Given the description of an element on the screen output the (x, y) to click on. 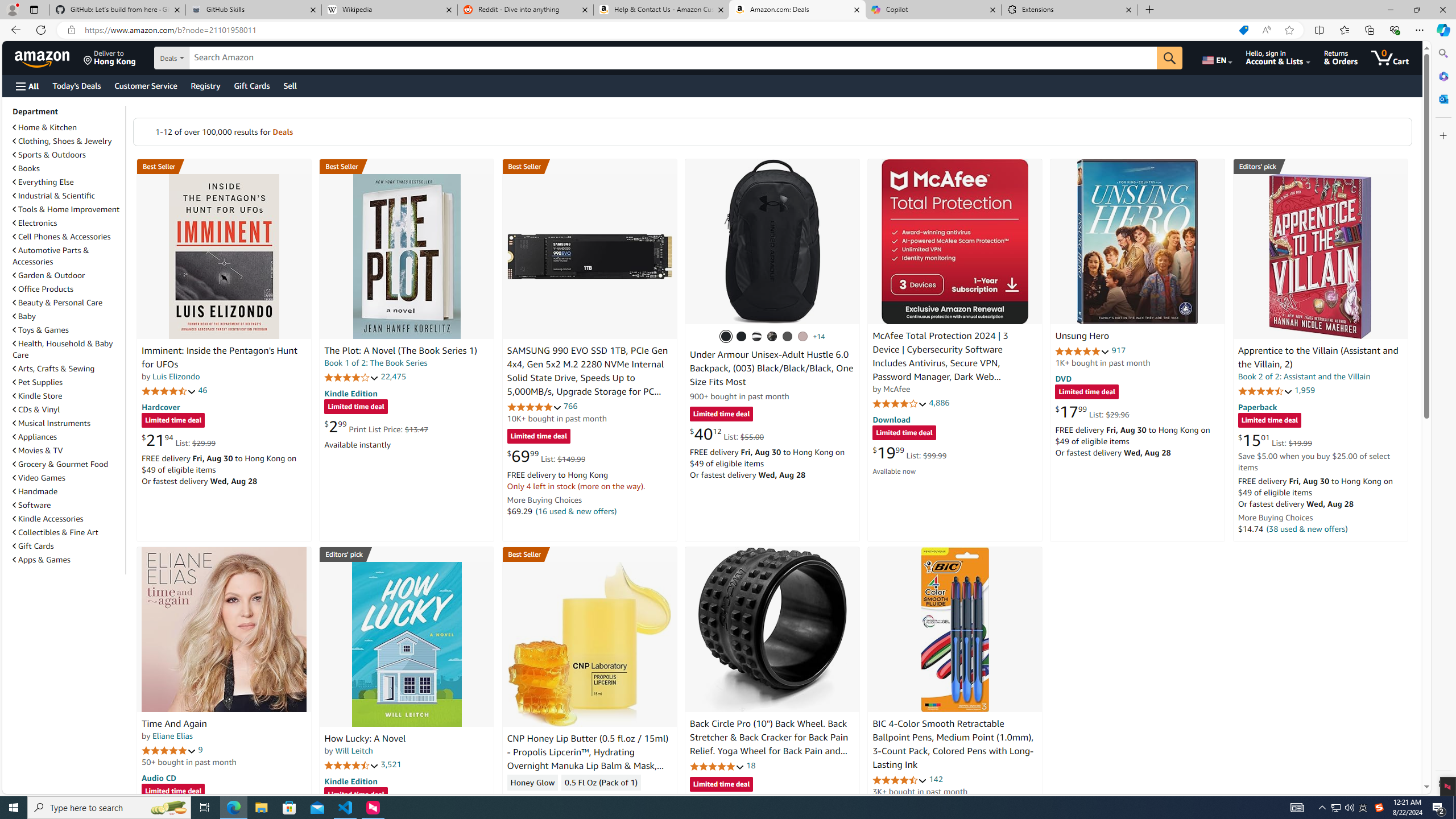
Skip to main content (48, 56)
Software (67, 505)
Eliane Elias (171, 735)
Industrial & Scientific (54, 195)
Gift Cards (33, 545)
(005) Black Full Heather / Black / Metallic Gold (788, 336)
Wikipedia (390, 9)
Everything Else (67, 181)
Kindle Accessories (47, 518)
Office Products (67, 288)
917 (1117, 350)
